Given the description of an element on the screen output the (x, y) to click on. 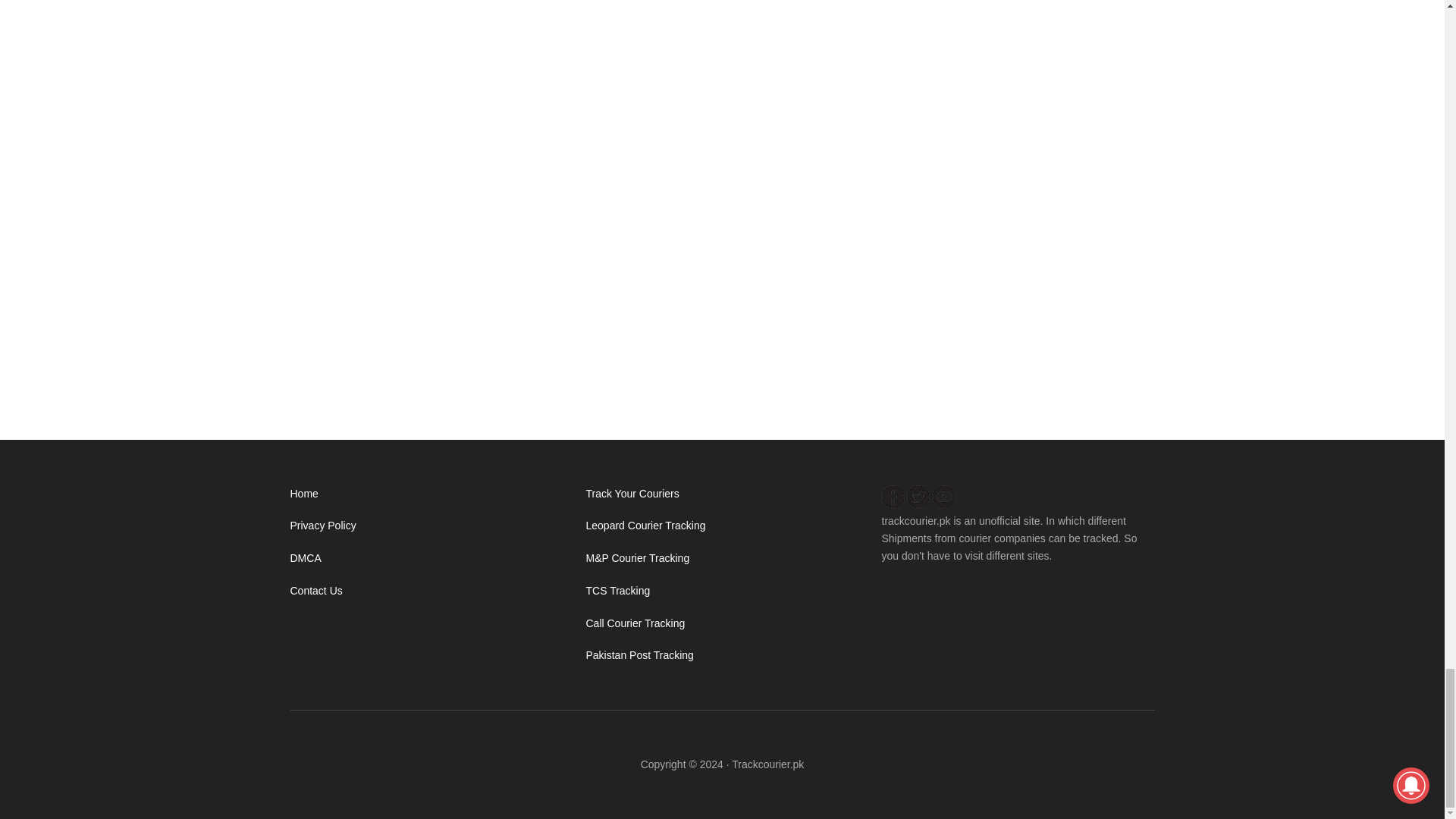
Privacy Policy (322, 525)
Contact Us (315, 590)
DMCA (304, 558)
Home (303, 493)
